Given the description of an element on the screen output the (x, y) to click on. 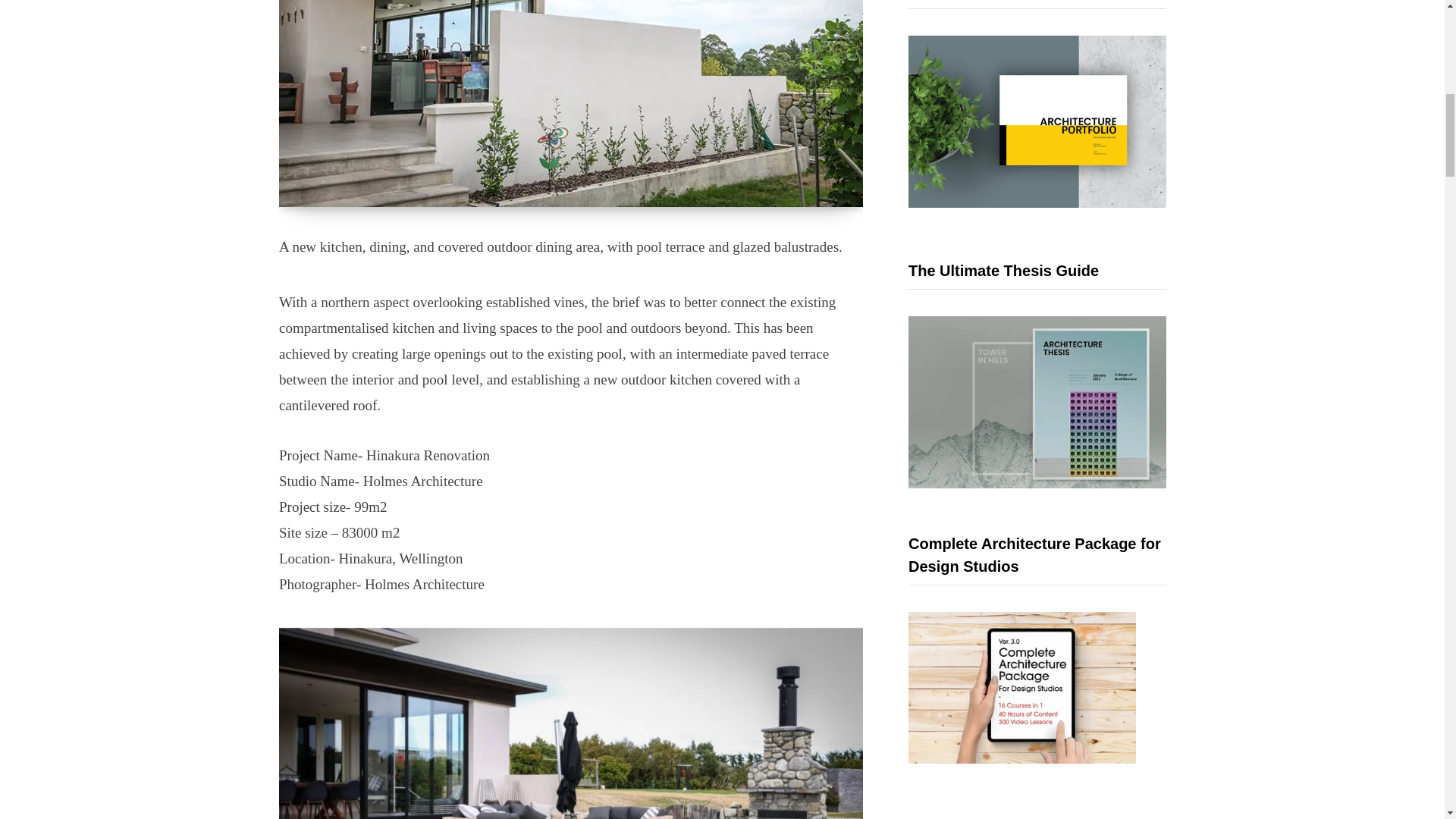
Hinakura Renovation by Holmes Architecture (571, 103)
